Given the description of an element on the screen output the (x, y) to click on. 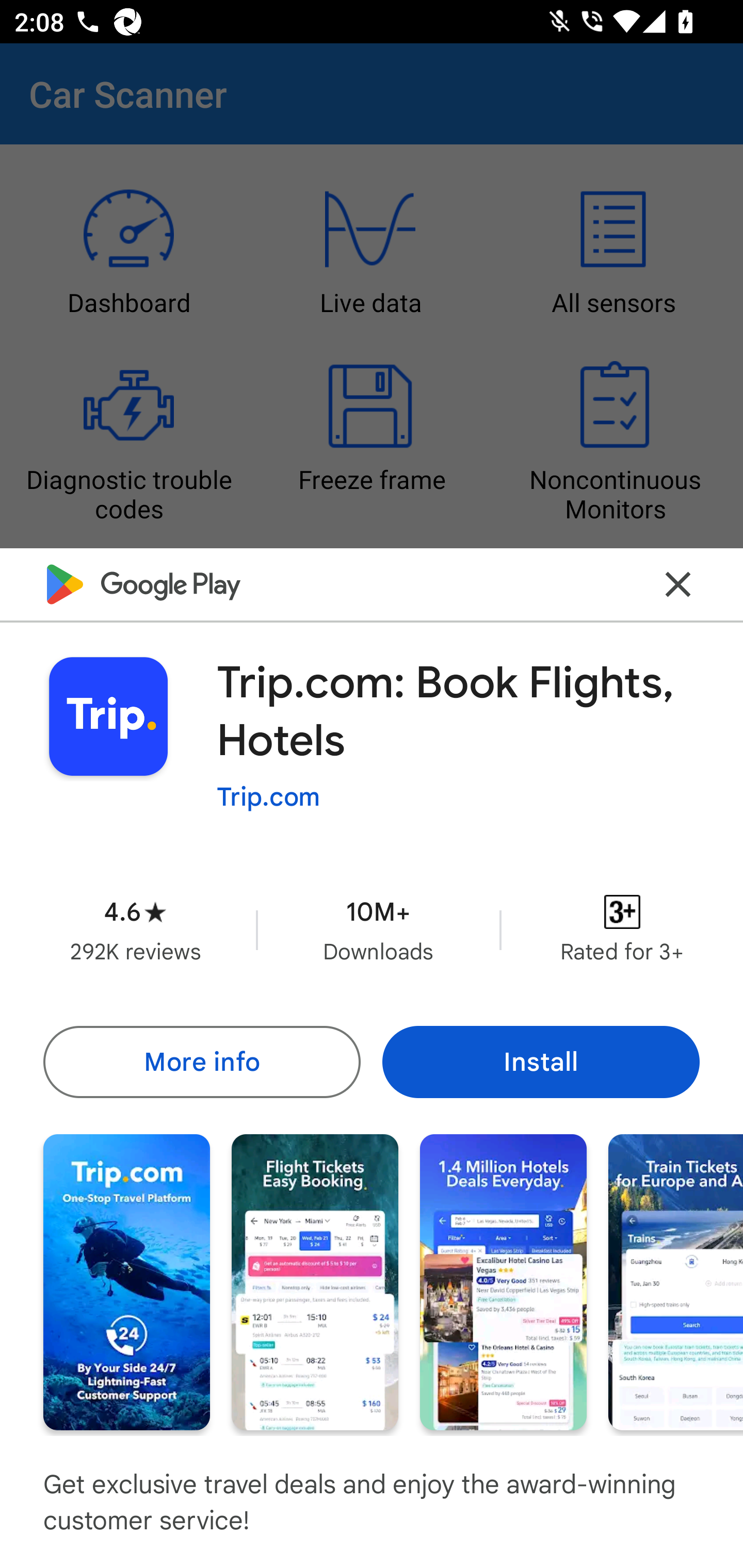
Close (677, 584)
Trip.com (268, 796)
More info (201, 1061)
Install (540, 1061)
Screenshot "1" of "8" (126, 1281)
Screenshot "2" of "8" (314, 1281)
Screenshot "3" of "8" (502, 1281)
Screenshot "4" of "8" (675, 1281)
